Given the description of an element on the screen output the (x, y) to click on. 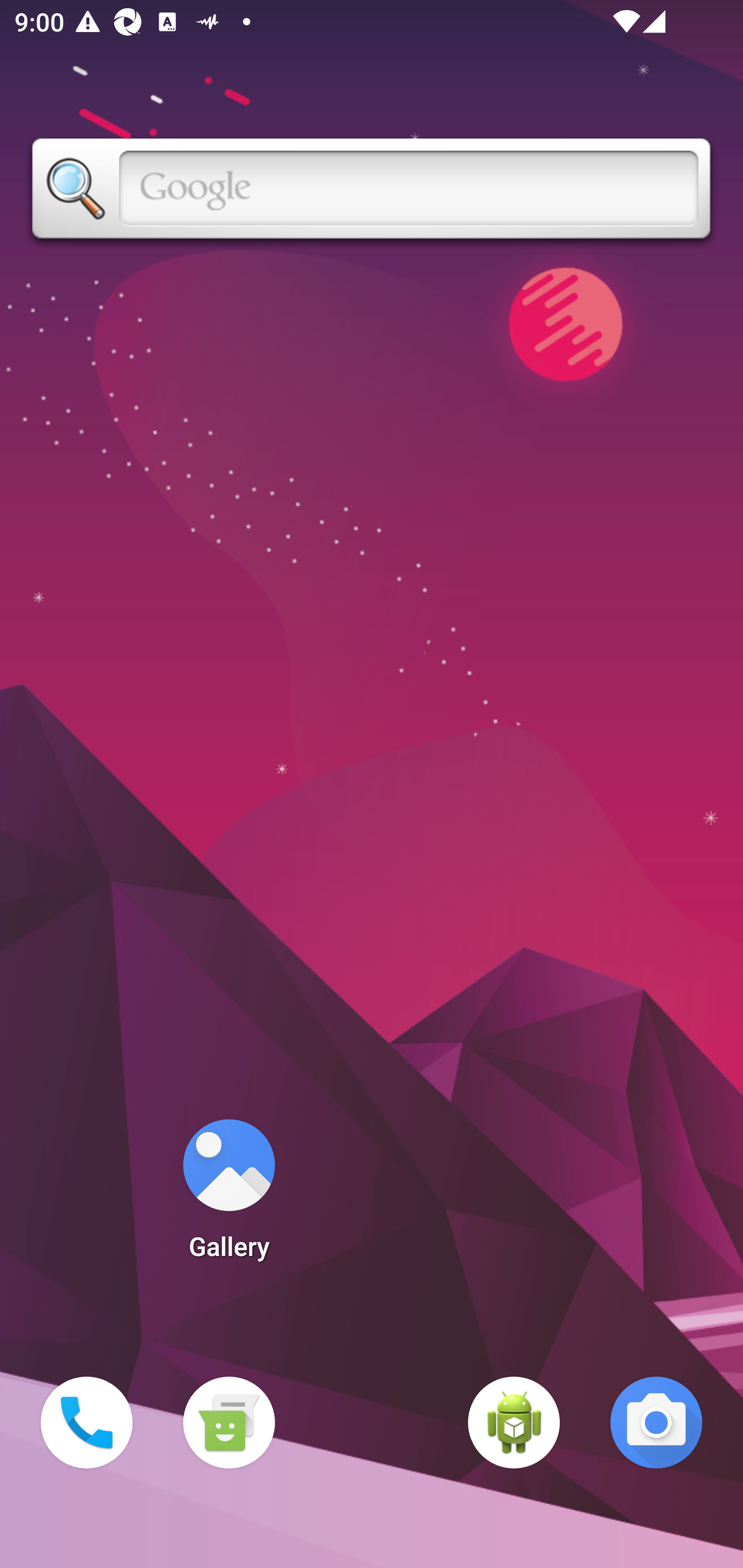
Gallery (228, 1195)
Phone (86, 1422)
Messaging (228, 1422)
WebView Browser Tester (513, 1422)
Camera (656, 1422)
